Given the description of an element on the screen output the (x, y) to click on. 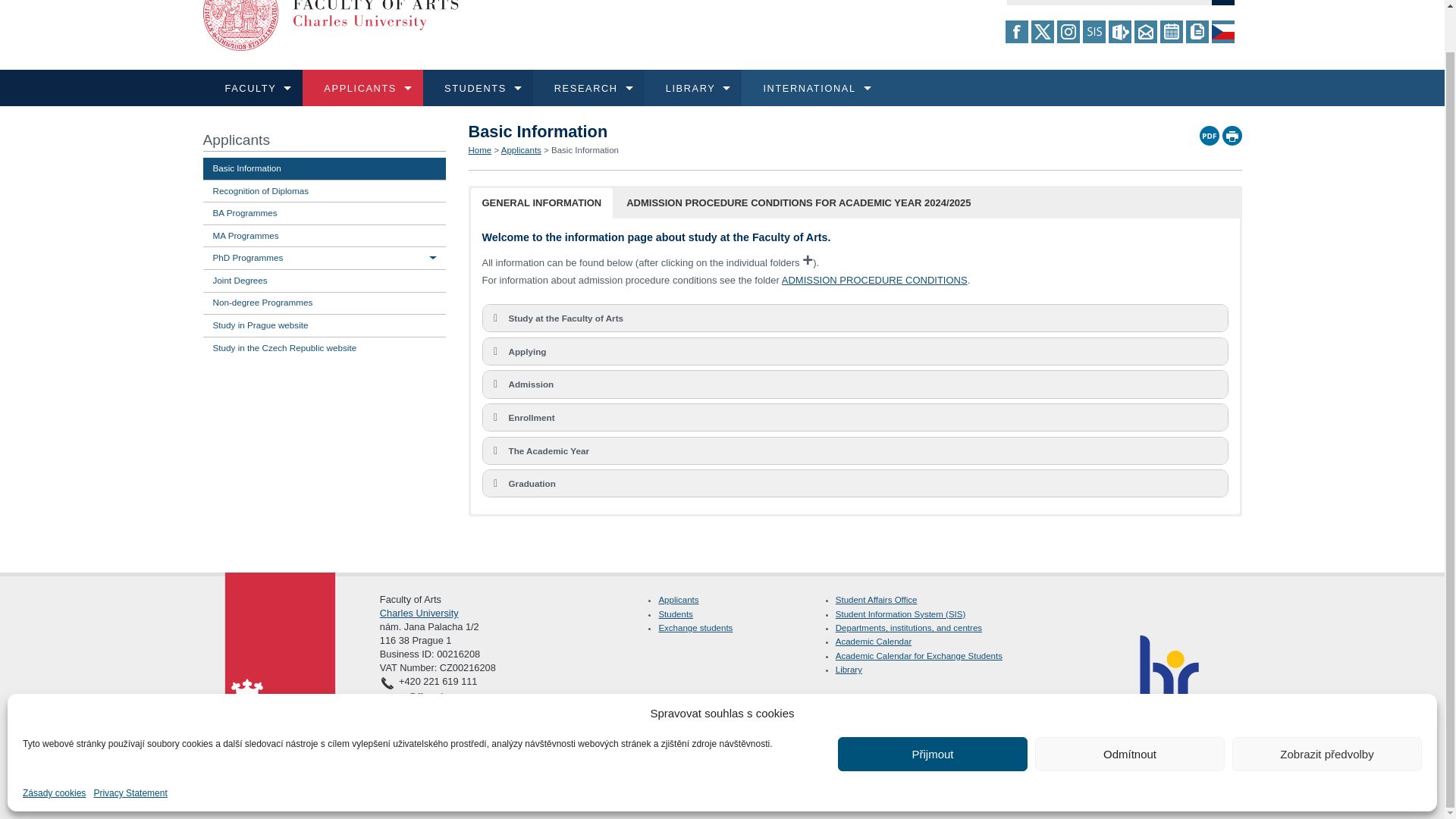
Privacy Statement (130, 748)
Honorary Affiliations (1047, 136)
Job Offers (1047, 175)
For Media and Public (671, 212)
Recognition of Diplomas (671, 175)
APPLICANTS (258, 128)
Contacts (671, 212)
Rules and Regulations (671, 175)
FACULTY (252, 87)
Learn more (259, 169)
Non-degree Programmes (1047, 175)
Support and Assistance for Students and Staff (671, 250)
Basic Information (671, 136)
Honorary Affiliations (1047, 136)
Structure and History (671, 136)
